Given the description of an element on the screen output the (x, y) to click on. 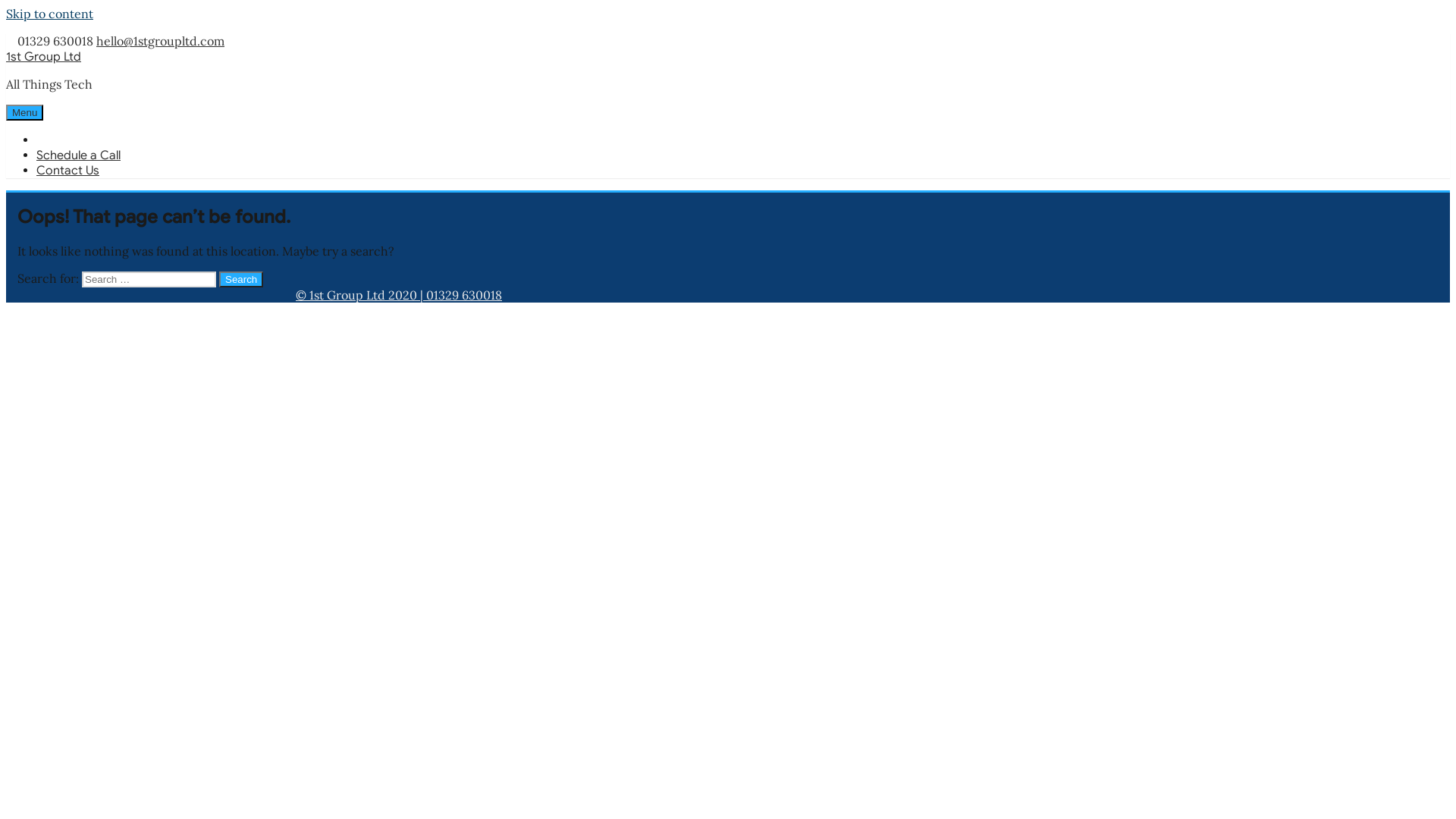
1st Group Ltd Element type: text (43, 56)
Schedule a Call Element type: text (78, 155)
Search Element type: text (241, 279)
Contact Us Element type: text (67, 170)
Skip to content Element type: text (49, 13)
Menu Element type: text (24, 112)
hello@1stgroupltd.com Element type: text (160, 40)
